Given the description of an element on the screen output the (x, y) to click on. 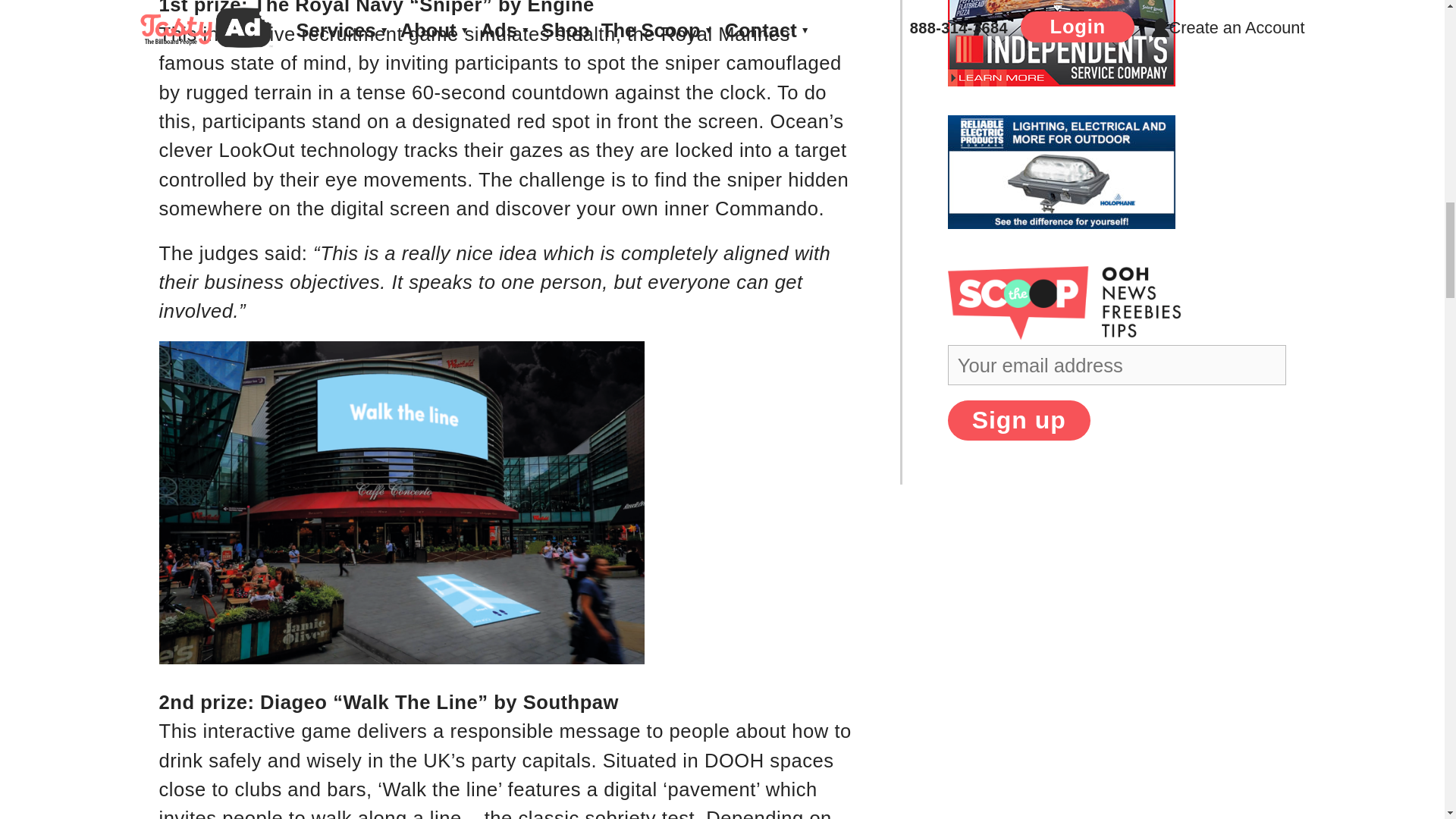
Sign up (1018, 420)
